Given the description of an element on the screen output the (x, y) to click on. 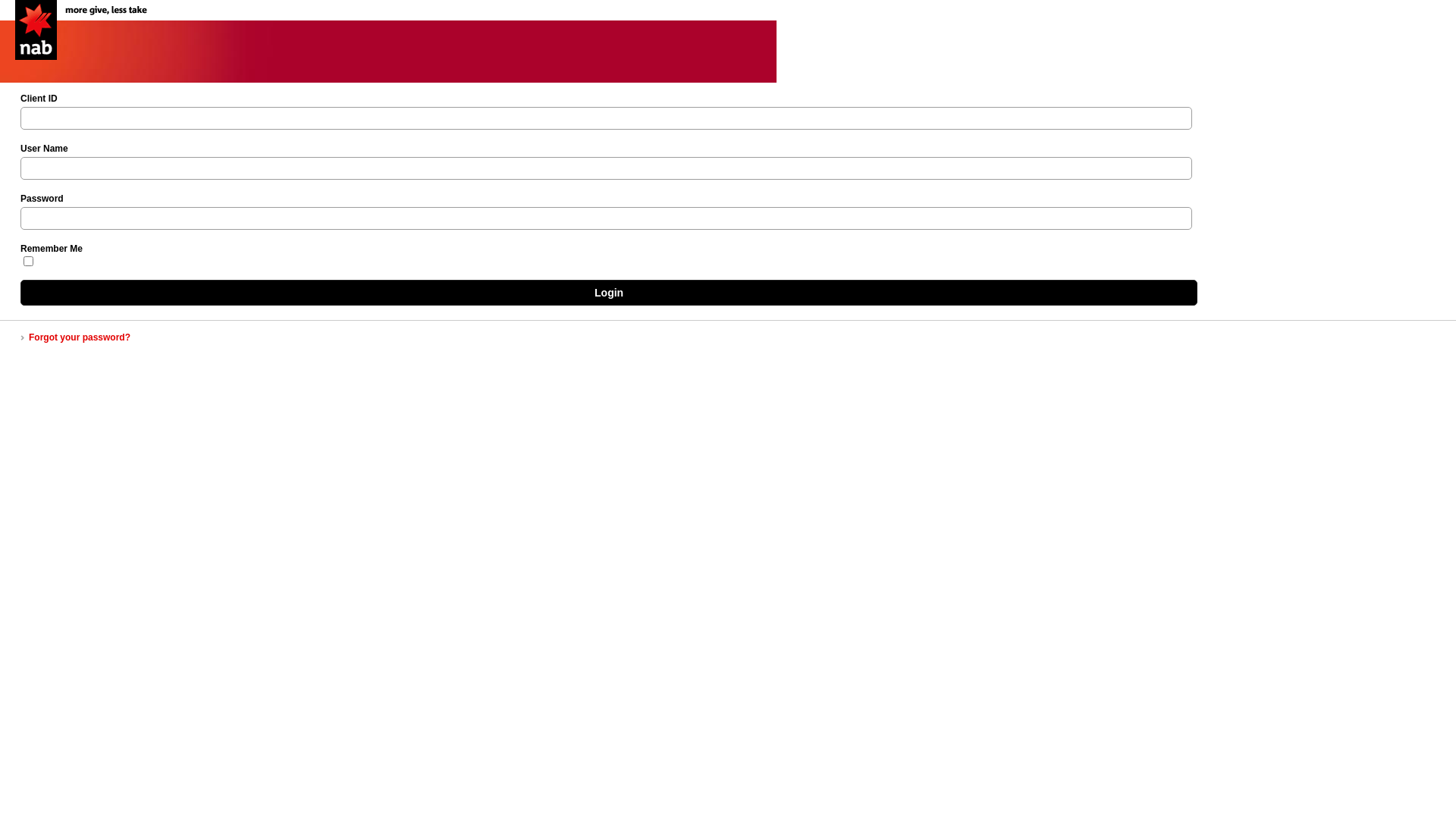
Login Element type: text (608, 292)
